Given the description of an element on the screen output the (x, y) to click on. 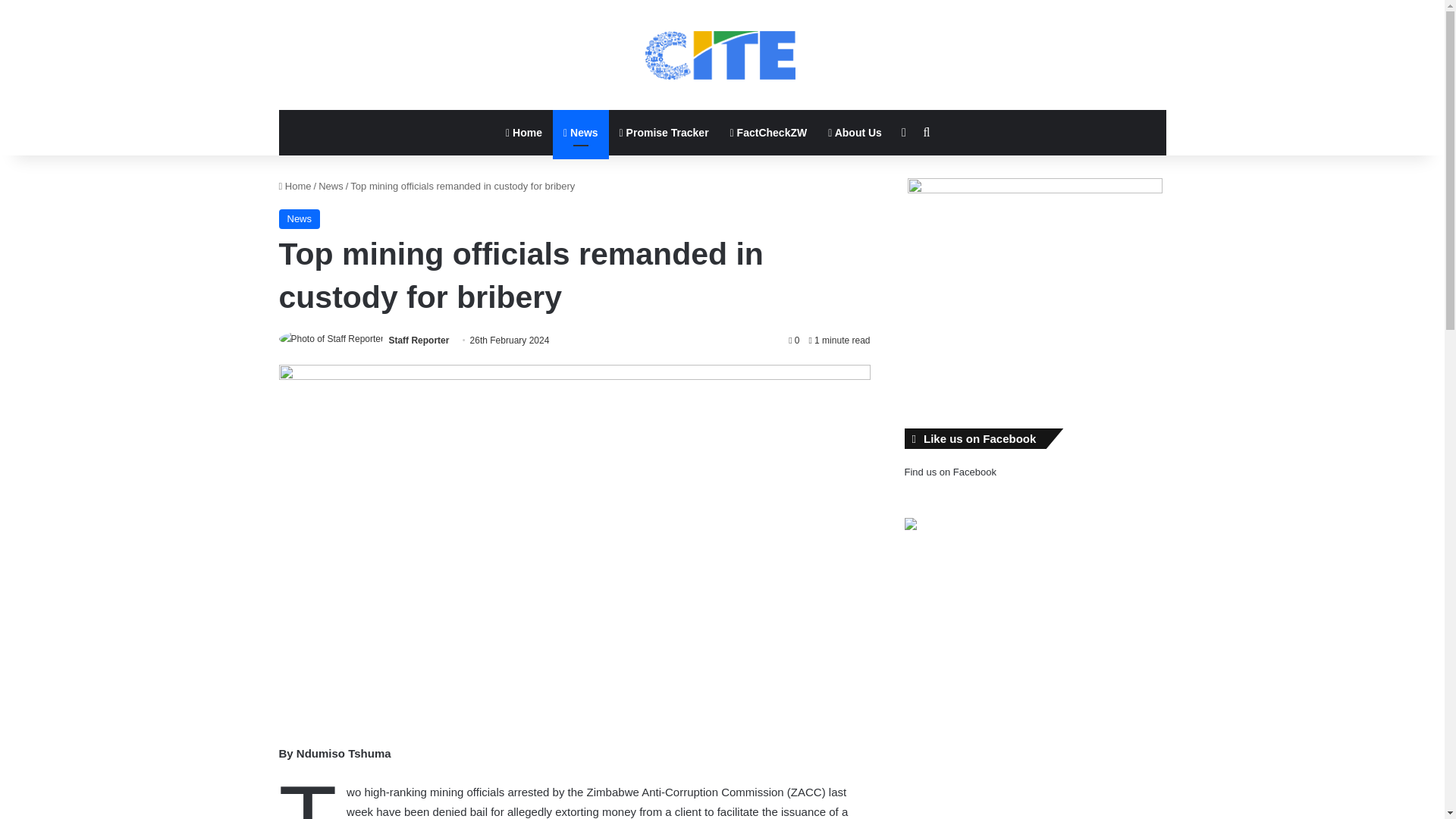
Find us on Facebook (949, 471)
Home (295, 185)
News (580, 132)
About Us (854, 132)
News (330, 185)
News (299, 219)
Staff Reporter (418, 339)
Staff Reporter (418, 339)
Promise Tracker (663, 132)
FactCheckZW (768, 132)
